Given the description of an element on the screen output the (x, y) to click on. 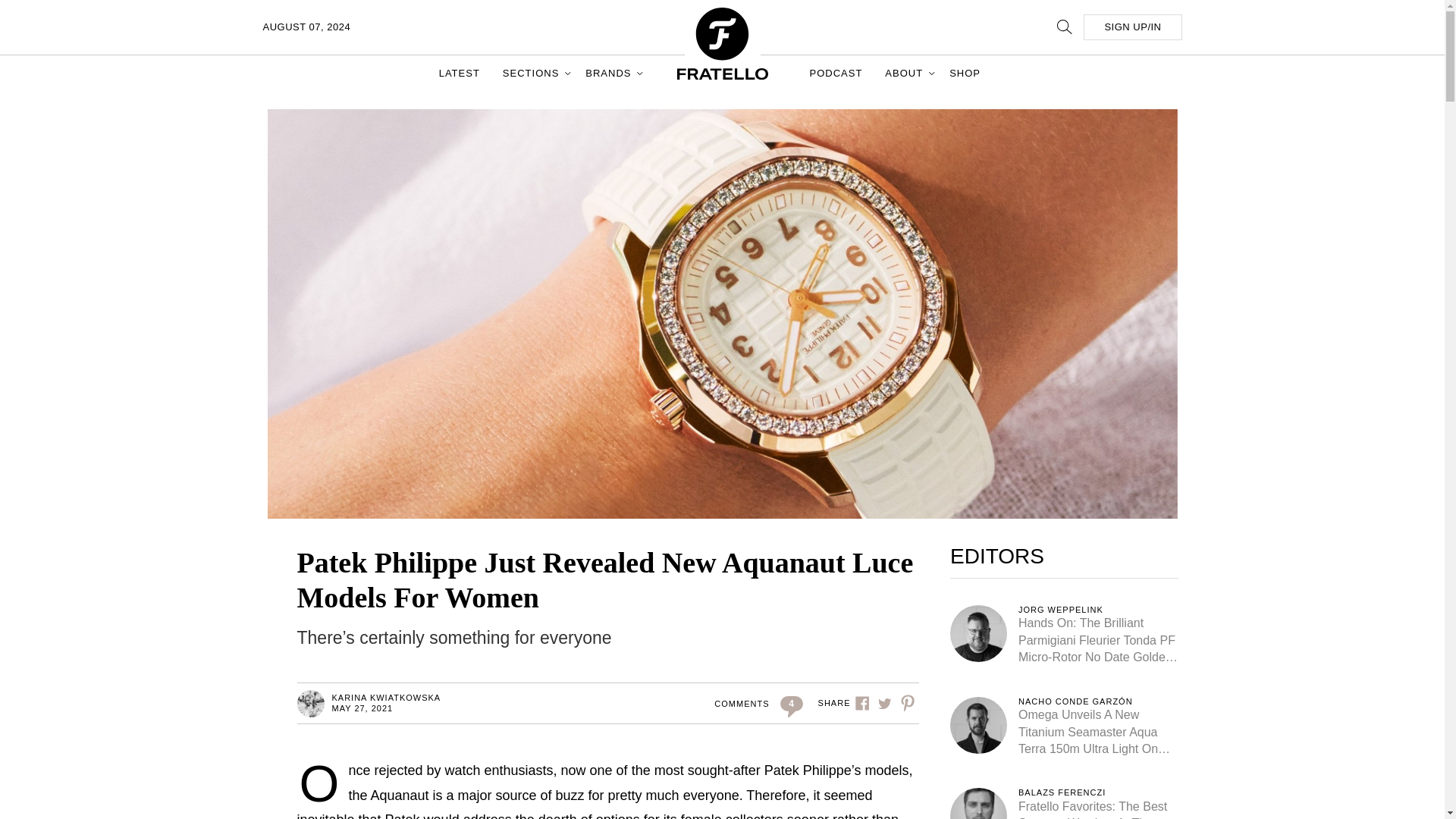
SECTIONS (532, 72)
LATEST (460, 72)
BRANDS (609, 72)
